Given the description of an element on the screen output the (x, y) to click on. 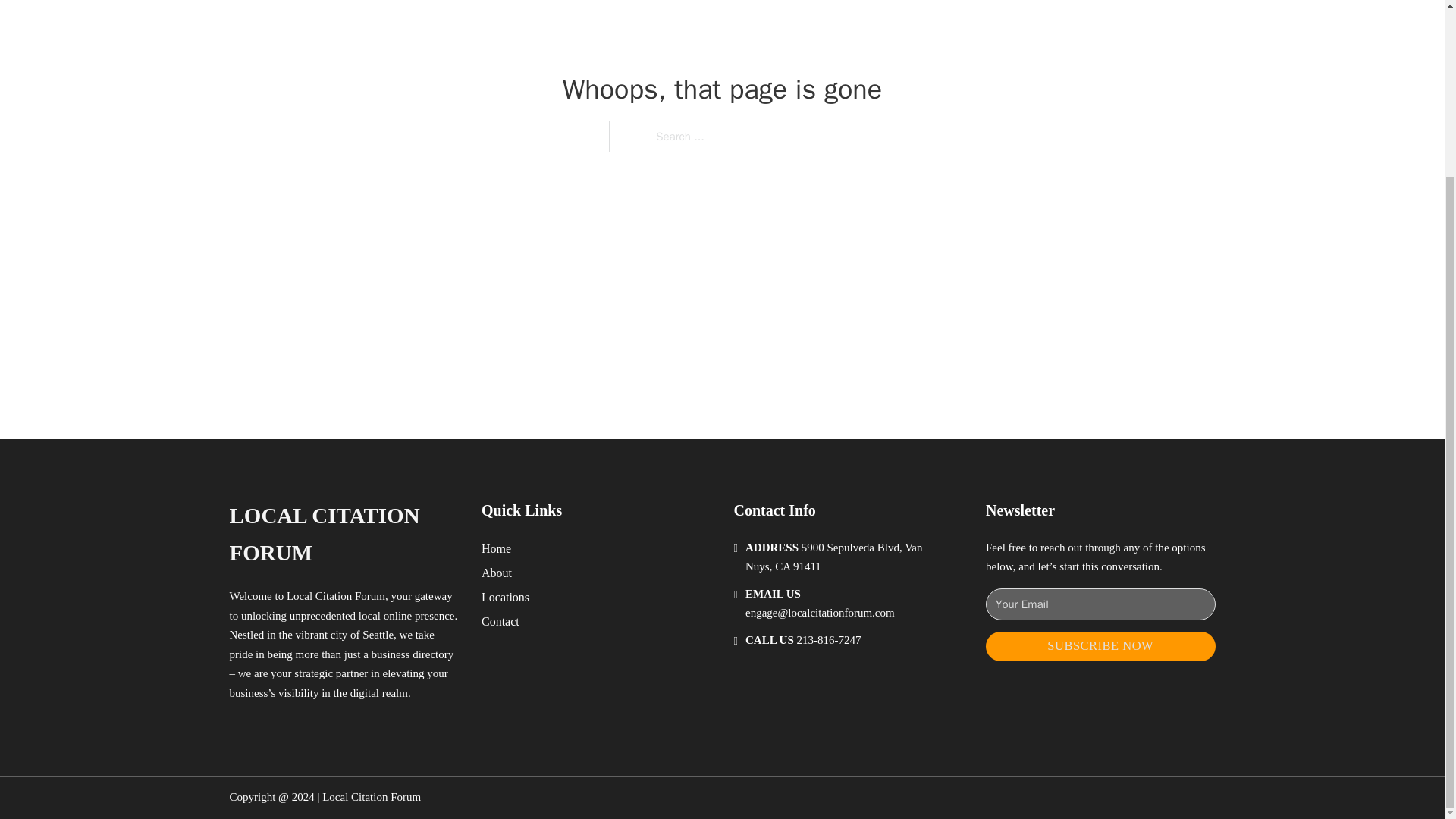
Locations (505, 597)
SUBSCRIBE NOW (1100, 645)
About (496, 572)
Contact (500, 620)
LOCAL CITATION FORUM (343, 534)
Home (496, 548)
